Given the description of an element on the screen output the (x, y) to click on. 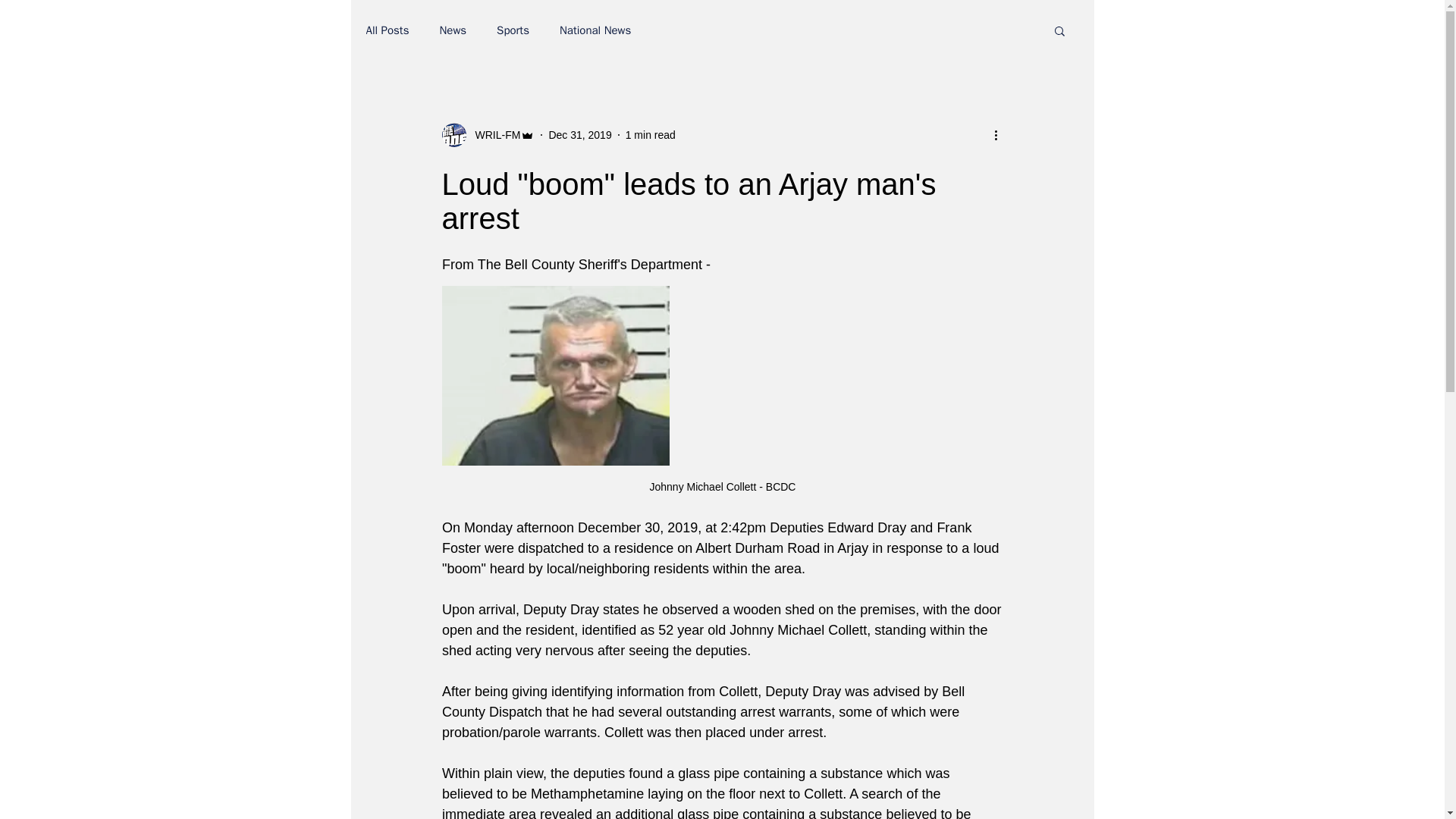
All Posts (387, 29)
News (452, 29)
Dec 31, 2019 (579, 134)
Sports (512, 29)
National News (594, 29)
1 min read (650, 134)
WRIL-FM (492, 135)
